Given the description of an element on the screen output the (x, y) to click on. 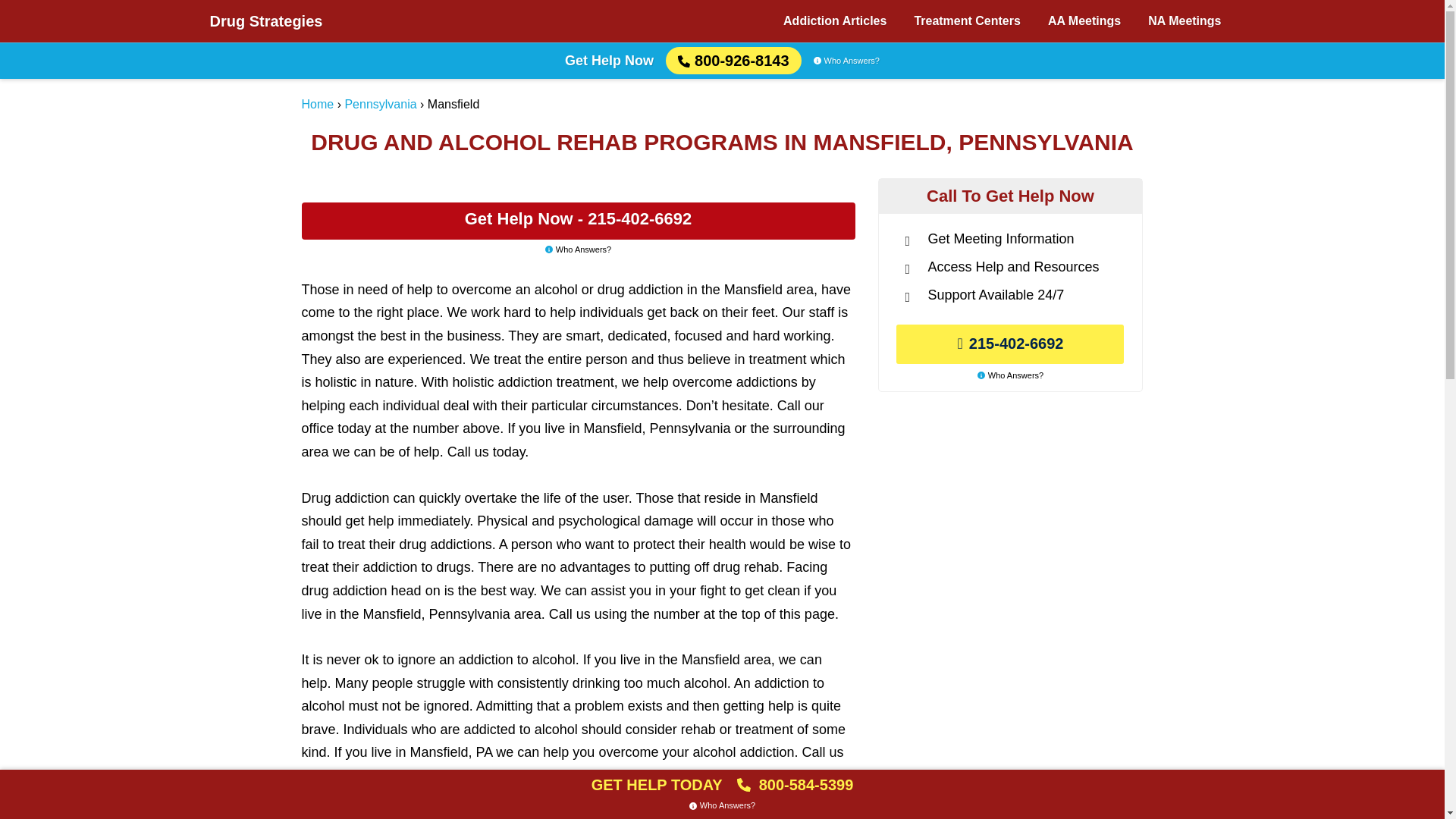
215-402-6692 (1010, 343)
Addiction Articles (834, 21)
800-926-8143 (733, 60)
Pennsylvania (379, 103)
Get Help Now (608, 60)
Drug Strategies (265, 21)
AA Meetings (1083, 21)
NA Meetings (1184, 21)
Get Help Now - 215-402-6692 (578, 220)
Treatment Centers (966, 21)
Home (317, 103)
